Given the description of an element on the screen output the (x, y) to click on. 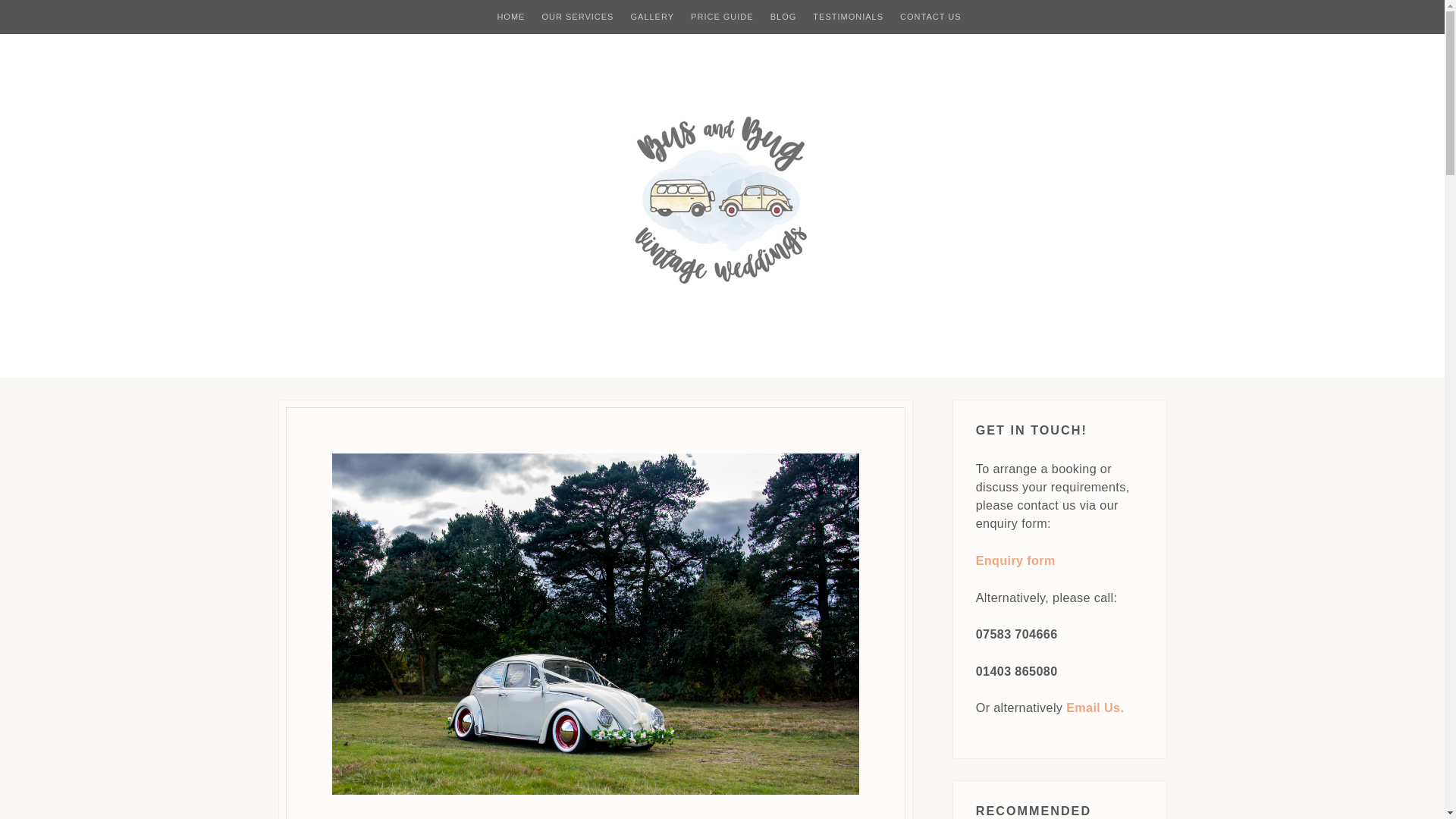
CONTACT US (929, 16)
OUR SERVICES (576, 16)
Enquiry form (1015, 560)
BLOG (783, 16)
Email Us. (1094, 707)
PRICE GUIDE (722, 16)
HOME (510, 16)
GALLERY (652, 16)
TESTIMONIALS (847, 16)
